Given the description of an element on the screen output the (x, y) to click on. 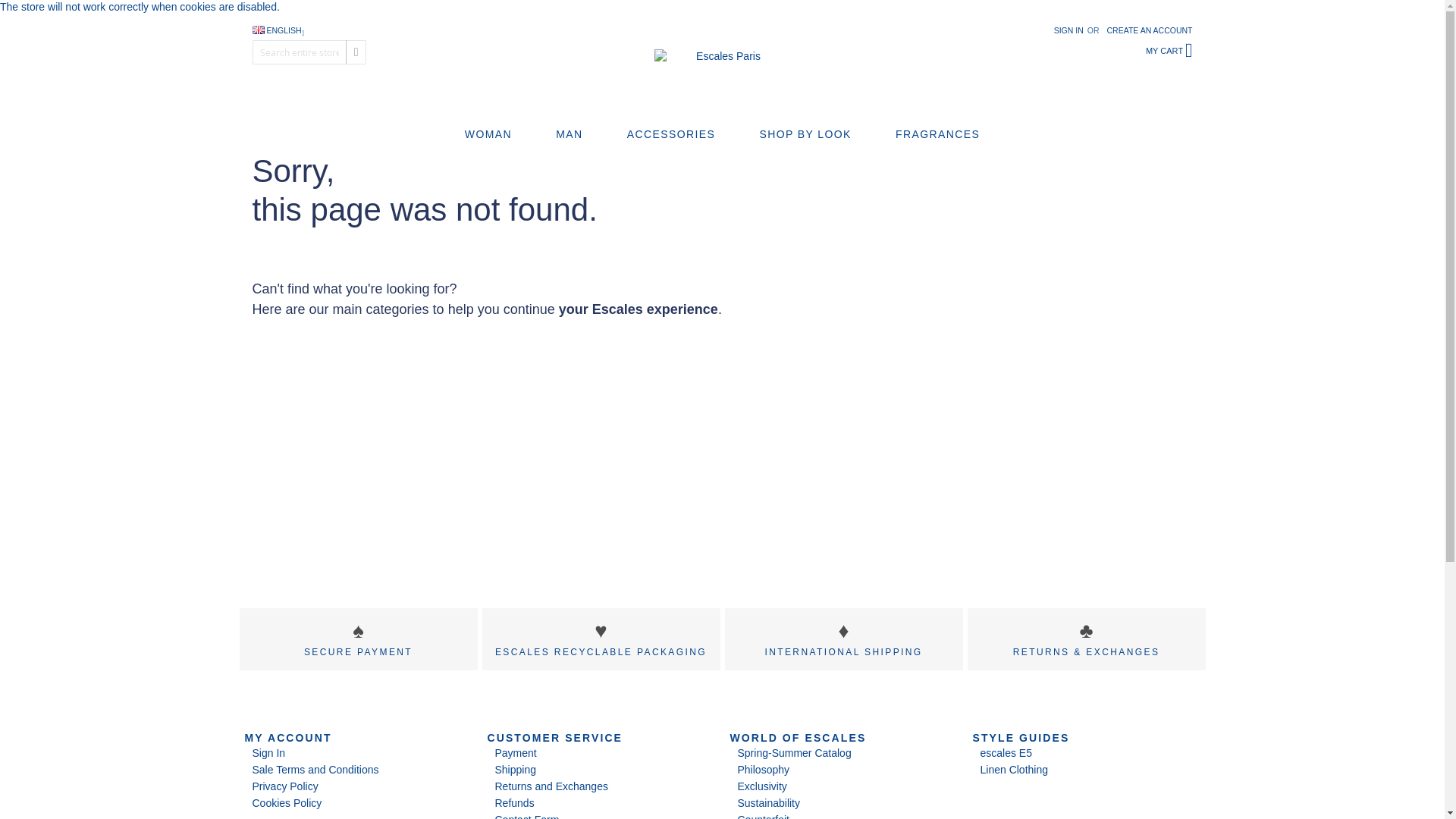
WOMAN (487, 133)
MAN (569, 133)
Escales Paris (721, 66)
SIGN IN (1068, 30)
Privacy Policy (284, 786)
MY CART (1169, 51)
Sale Terms and Conditions (314, 768)
CREATE AN ACCOUNT (1149, 30)
Escales Paris (721, 66)
Sign In (268, 752)
